Given the description of an element on the screen output the (x, y) to click on. 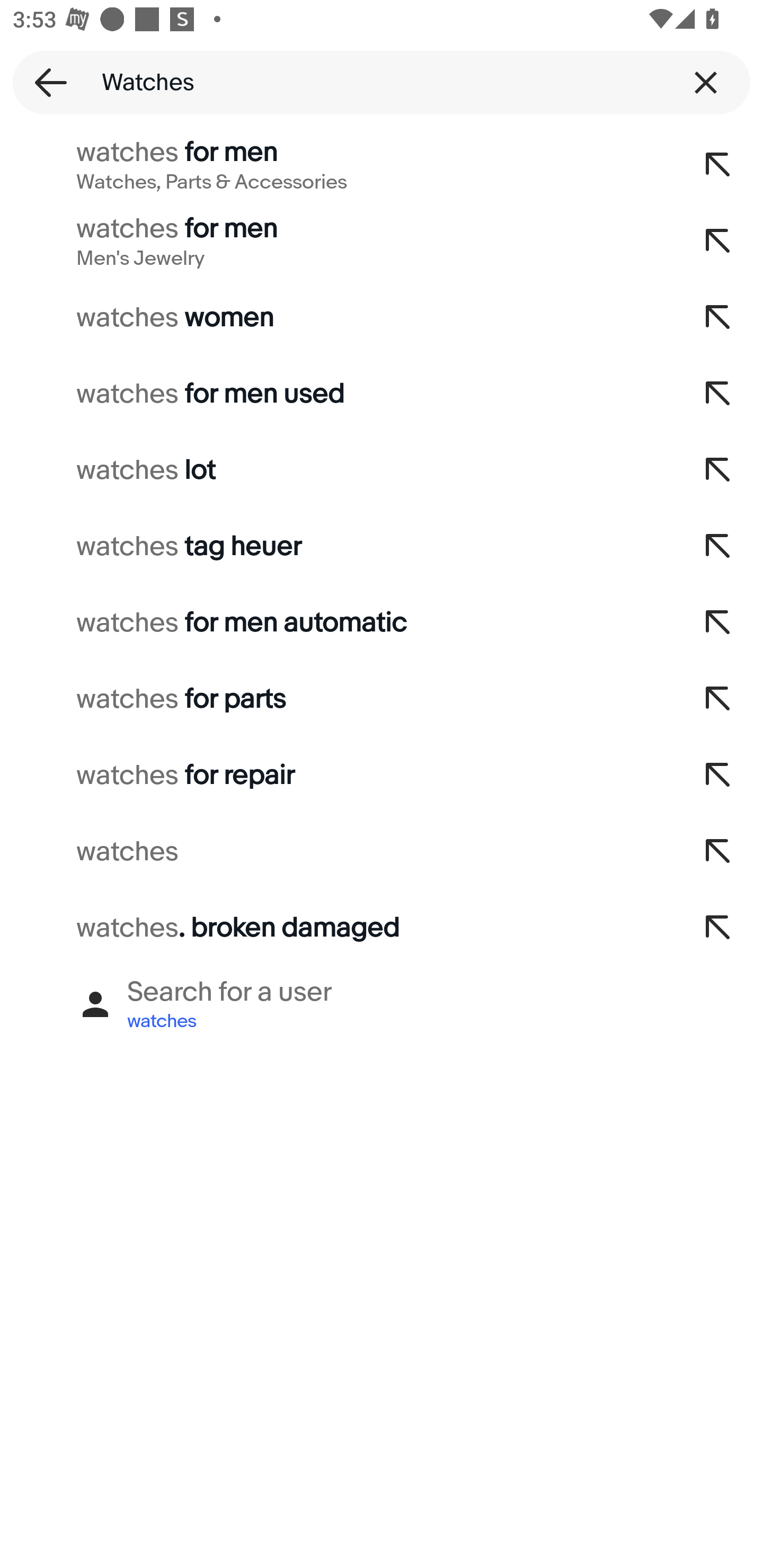
Back (44, 82)
Clear query (705, 82)
Watches (381, 82)
watches for men
Watches, Parts & Accessories (336, 165)
watches for men
Men's Jewelry (336, 241)
Add to search query,watches for men,Men's Jewelry (718, 241)
watches women (336, 317)
Add to search query,watches women (718, 317)
watches for men used (336, 393)
Add to search query,watches for men used (718, 393)
watches lot (336, 470)
Add to search query,watches lot (718, 470)
watches tag heuer (336, 546)
Add to search query,watches tag heuer (718, 546)
watches for men automatic (336, 622)
Add to search query,watches for men automatic (718, 622)
watches for parts (336, 698)
Add to search query,watches for parts (718, 698)
watches for repair (336, 774)
Add to search query,watches for repair (718, 774)
watches (336, 851)
Add to search query,watches (718, 851)
watches. broken damaged (336, 927)
Add to search query,watches. broken damaged (718, 927)
Search for a user
watches (381, 1003)
